Given the description of an element on the screen output the (x, y) to click on. 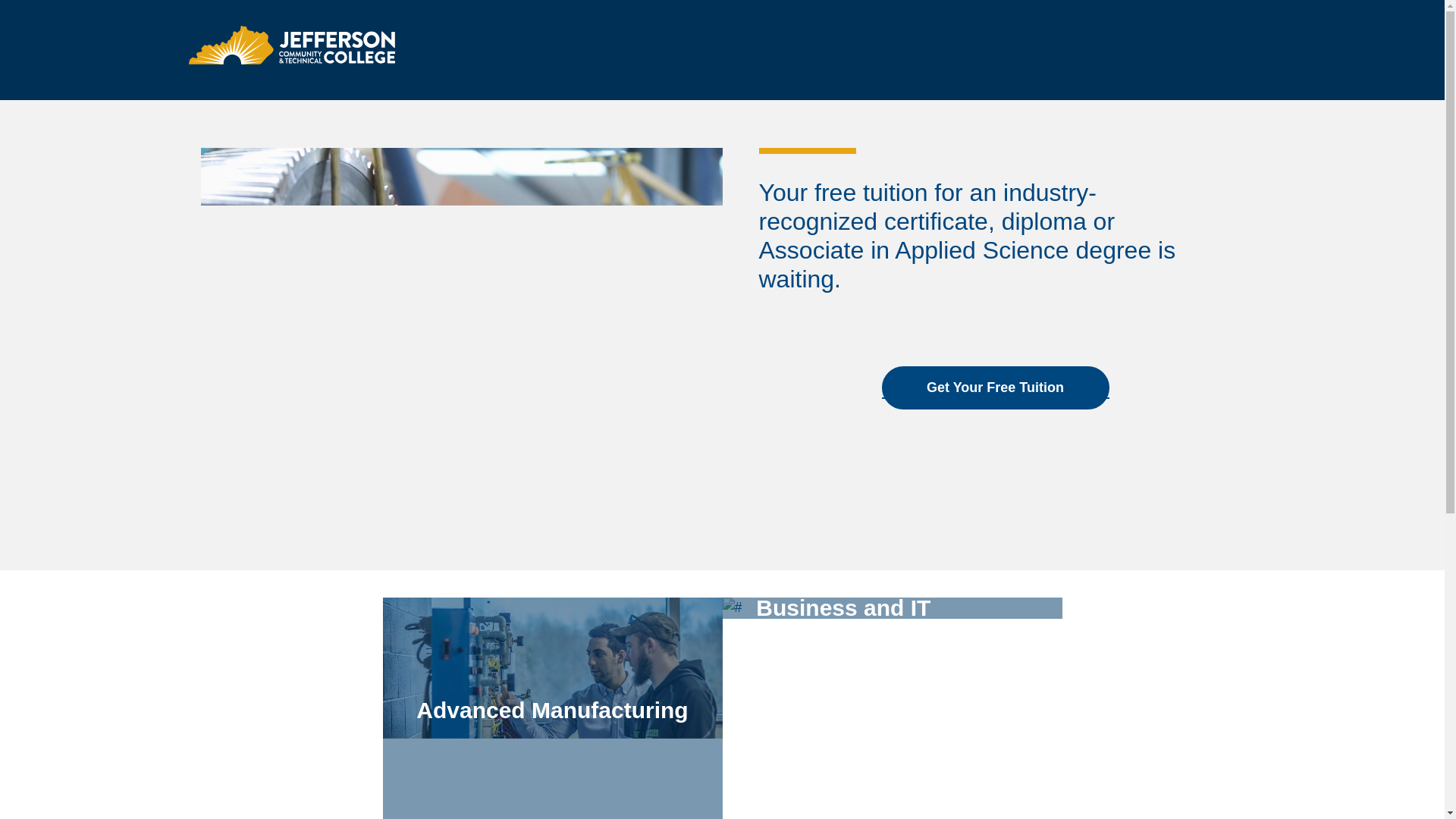
Advanced Manufacturing (551, 708)
Get Your Free Tuition (994, 384)
Business and IT (891, 708)
Get Your Free Tuition (994, 387)
